Given the description of an element on the screen output the (x, y) to click on. 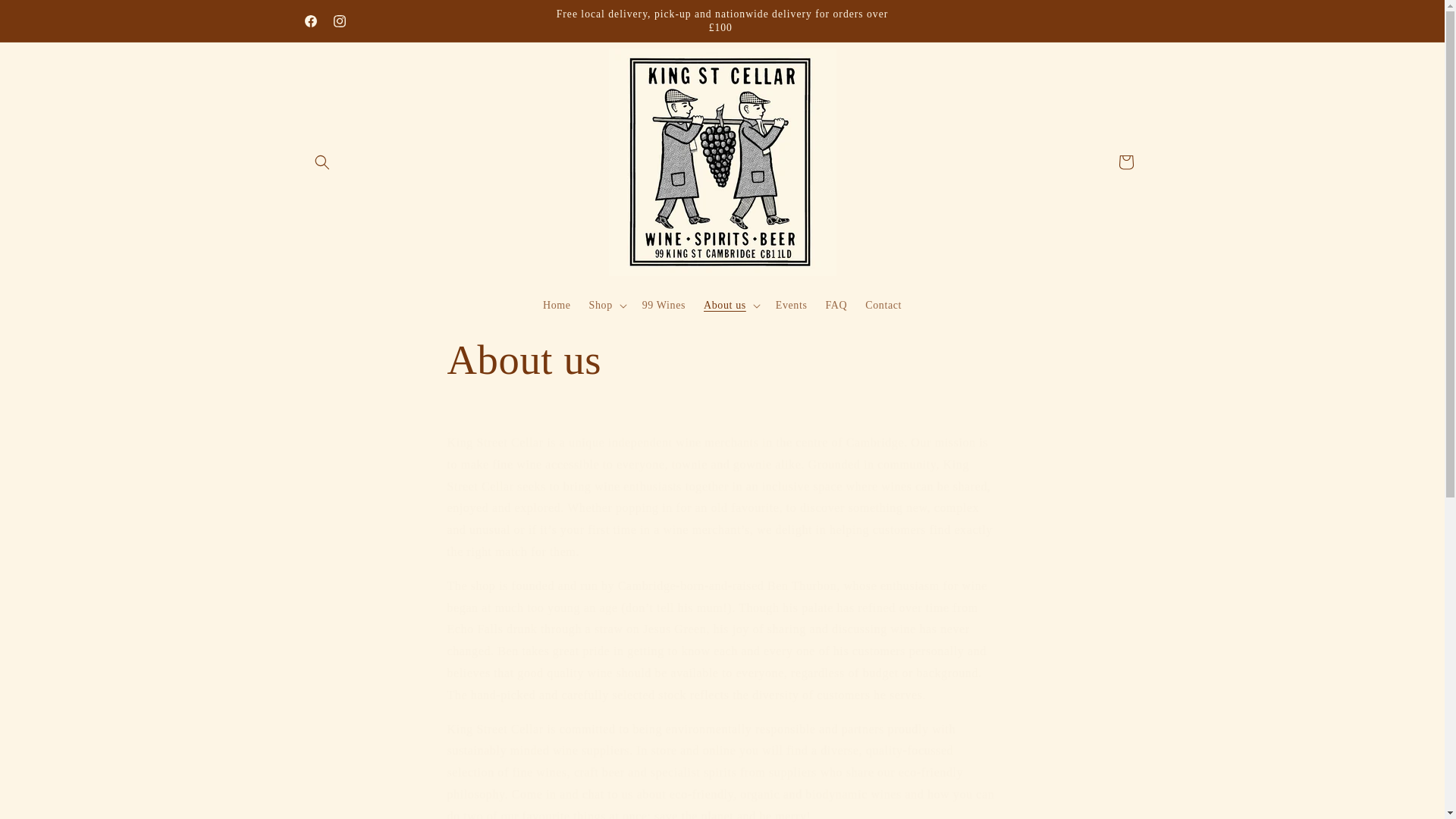
Cart (1124, 162)
Instagram (338, 21)
Skip to content (45, 17)
Contact (883, 305)
Events (791, 305)
FAQ (835, 305)
99 Wines (663, 305)
Home (556, 305)
About us (721, 359)
Facebook (309, 21)
